Given the description of an element on the screen output the (x, y) to click on. 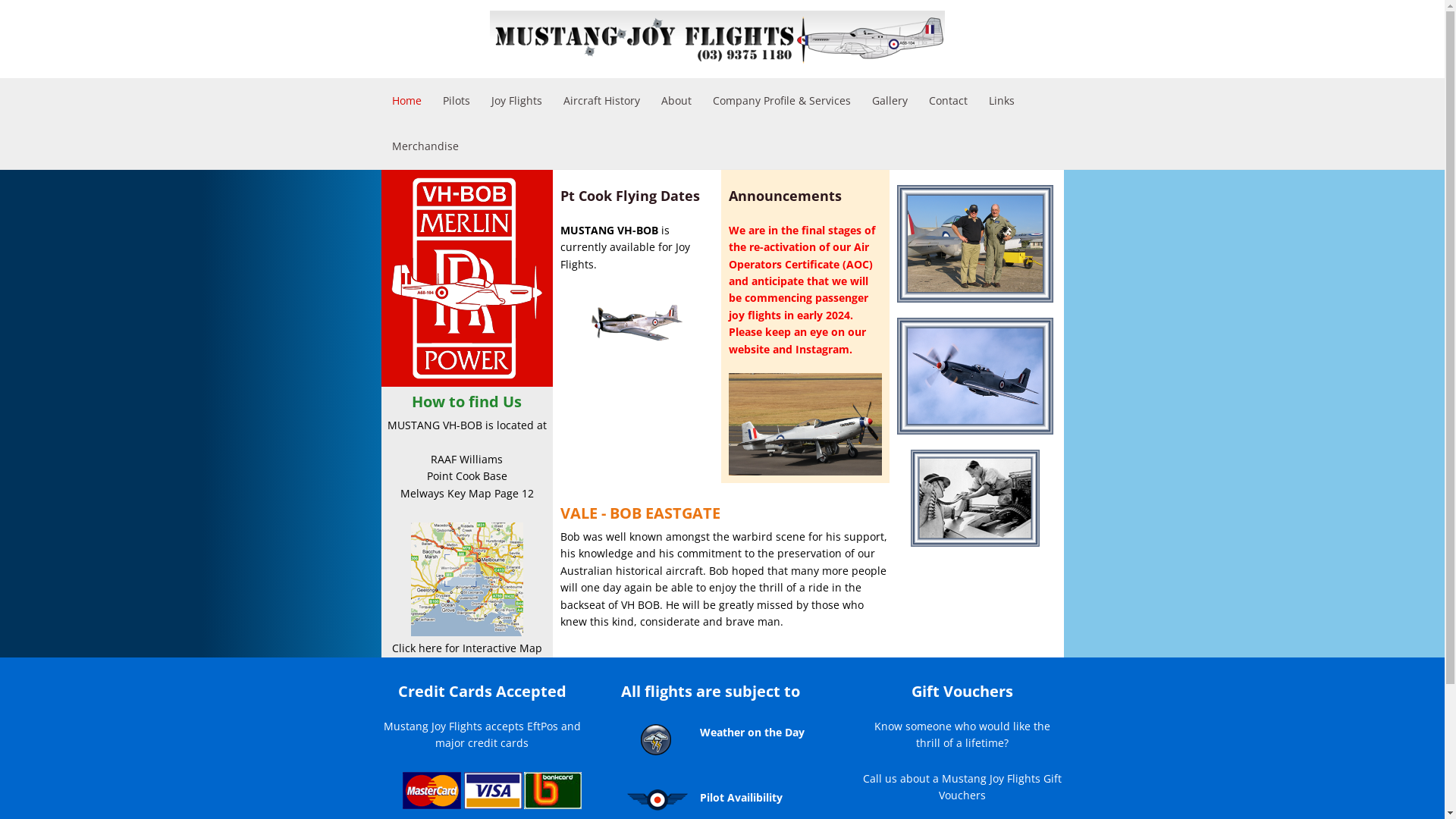
Gallery Element type: text (889, 100)
Joy Flights Element type: text (516, 100)
Merchandise Element type: text (424, 146)
Pilots Element type: text (456, 100)
About Element type: text (676, 100)
Links Element type: text (1001, 100)
Aircraft History Element type: text (600, 100)
Mustang Joy Flights is subject to pilot availability Element type: hover (657, 799)
Company Profile & Services Element type: text (781, 100)
Contact Element type: text (947, 100)
Mustang JoyFlights is subject to weather conditions Element type: hover (655, 741)
Home Element type: text (405, 100)
